Given the description of an element on the screen output the (x, y) to click on. 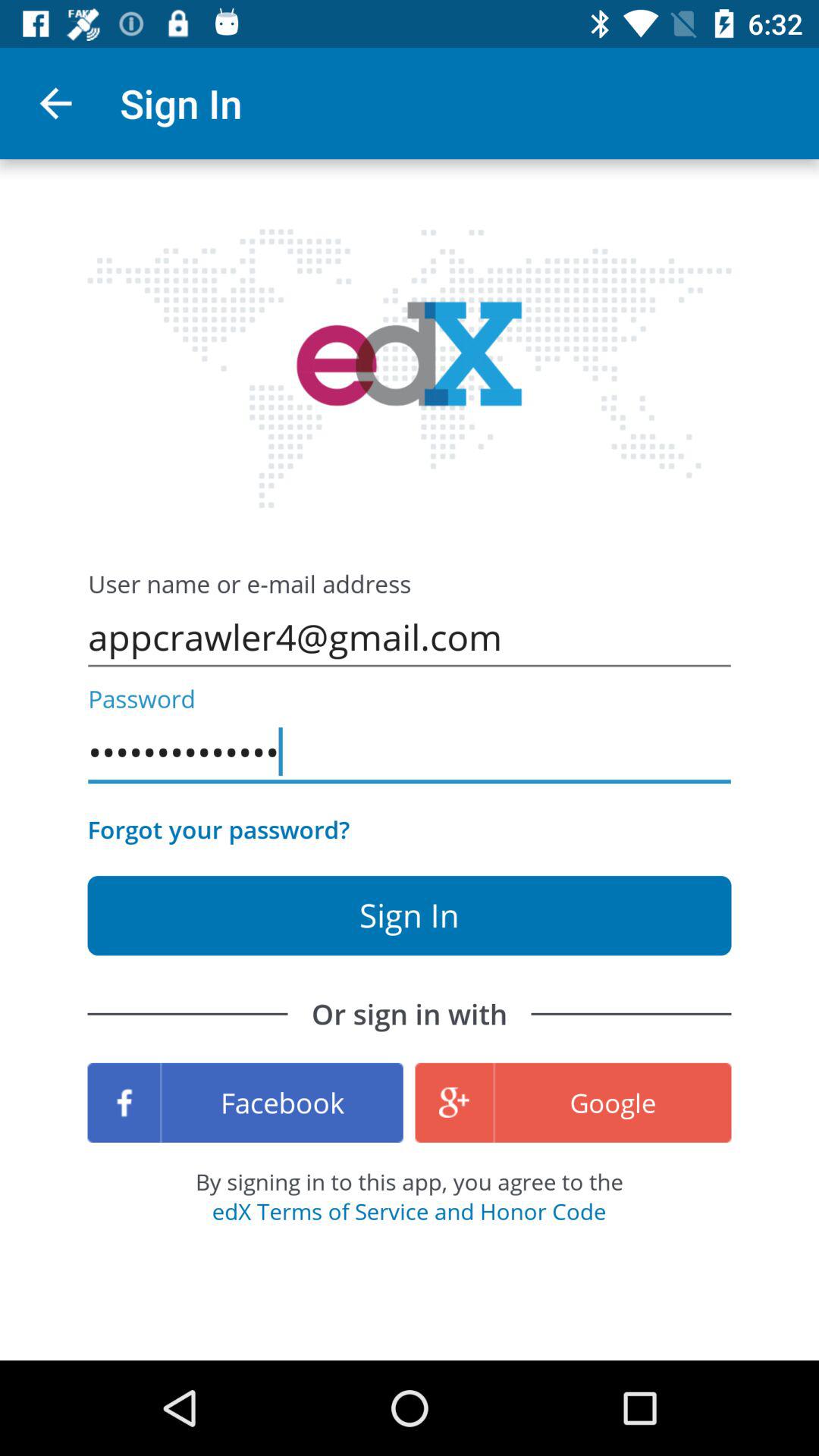
open the item above the forgot your password? (409, 752)
